Given the description of an element on the screen output the (x, y) to click on. 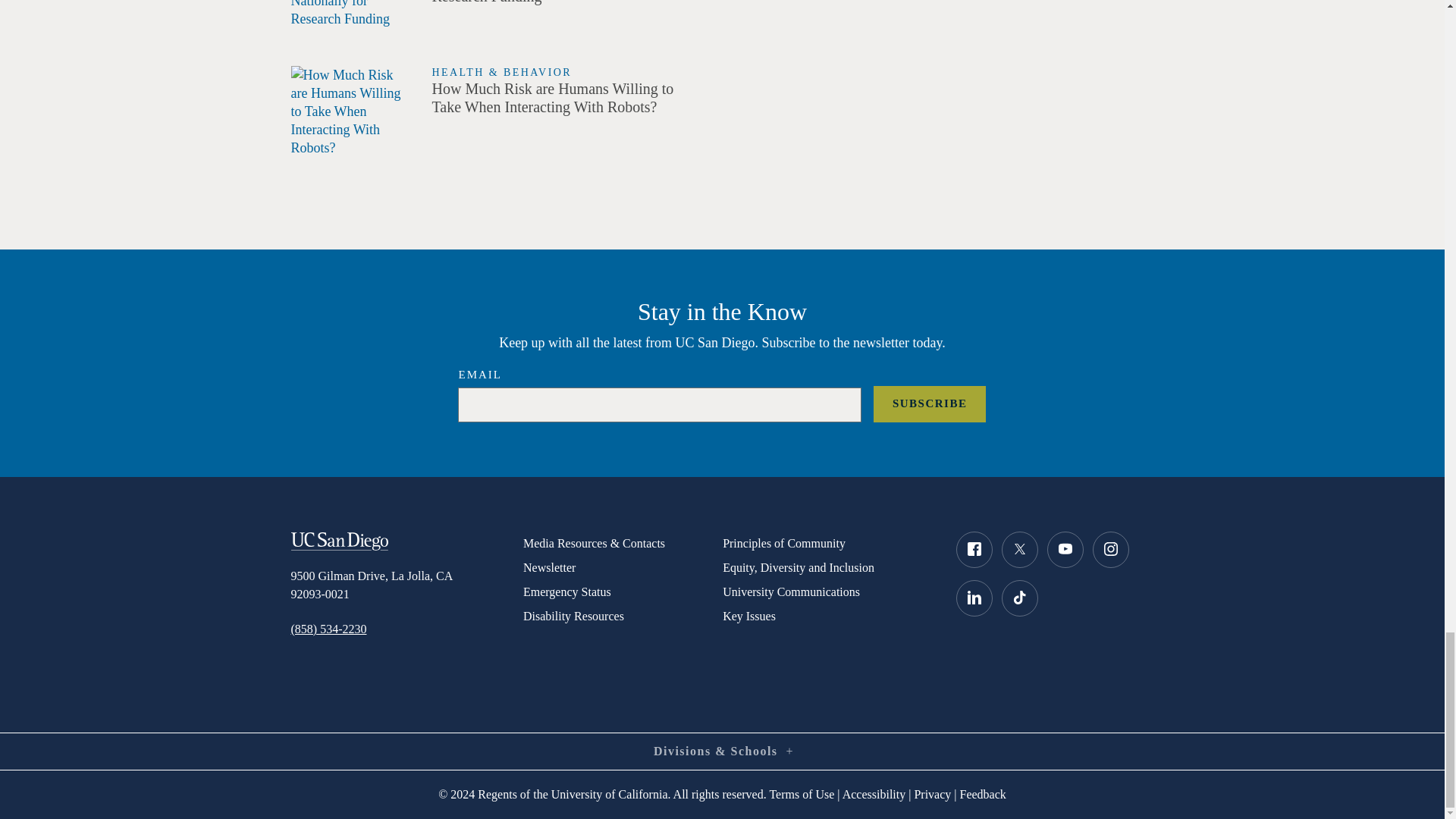
Principles of Community (826, 543)
Key Issues (826, 616)
Feedback (982, 793)
Privacy (932, 793)
Equity, Diversity and Inclusion (826, 567)
Emergency Status (622, 591)
Accessibility (874, 793)
Media Contacts (622, 543)
Newsletter (622, 567)
University Communications (826, 591)
Disability Resources (622, 616)
Terms of Use (801, 793)
